Given the description of an element on the screen output the (x, y) to click on. 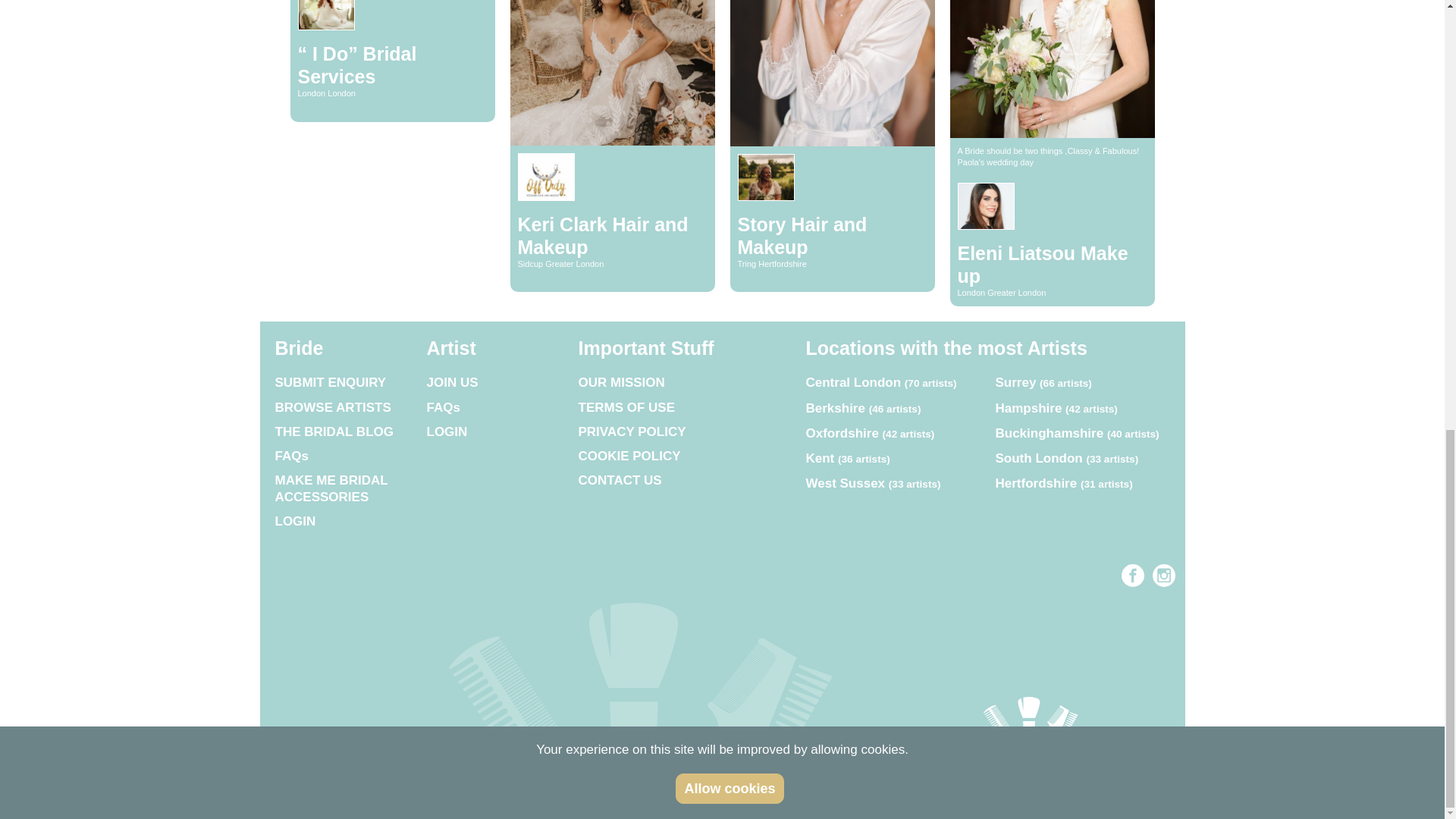
Facebook (1132, 575)
Instagram (1163, 575)
